Given the description of an element on the screen output the (x, y) to click on. 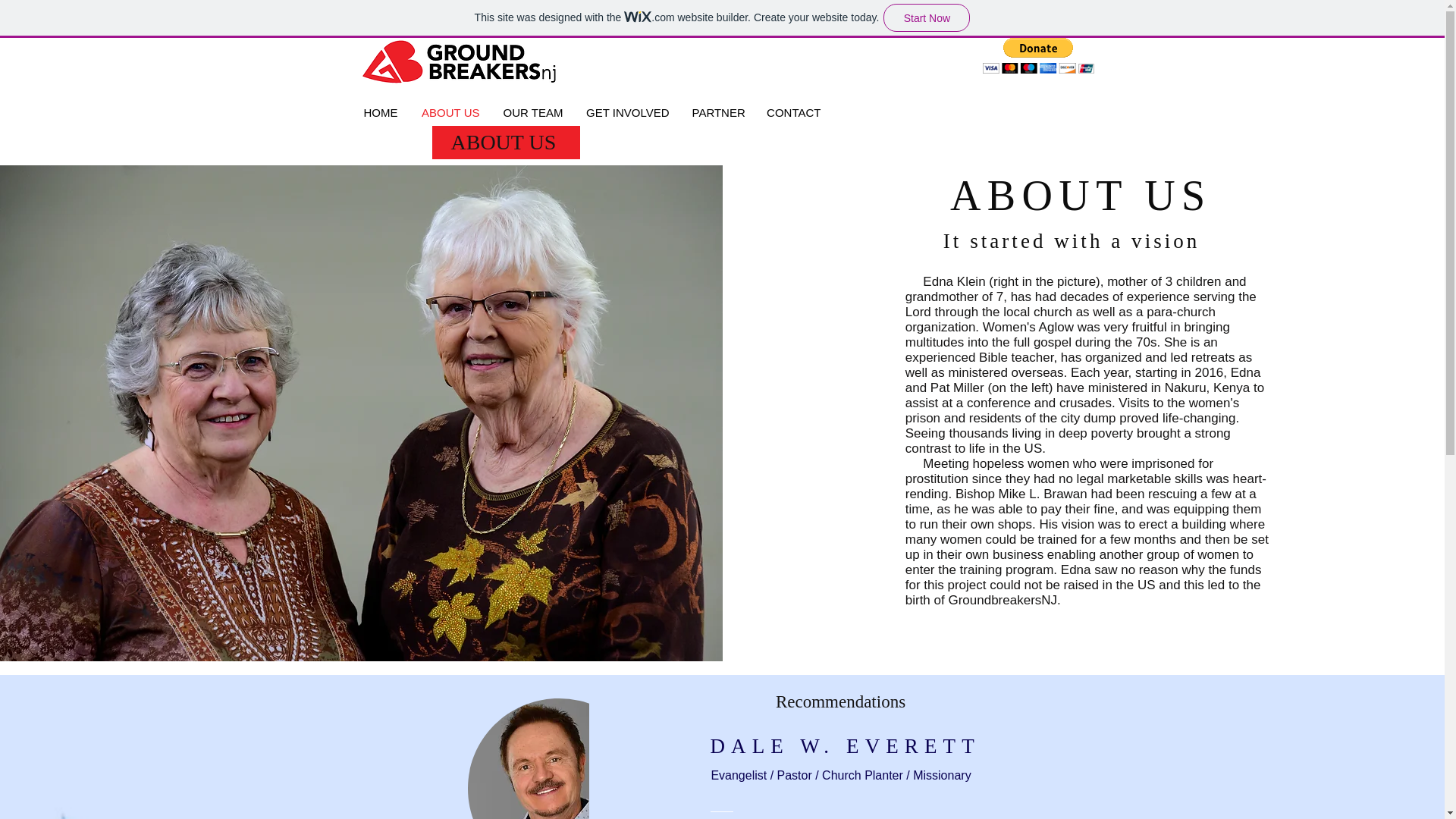
GBNJ Logo Options-02.png (458, 61)
GET INVOLVED (628, 111)
ABOUT US (450, 111)
PARTNER (717, 111)
HOME (379, 111)
OUR TEAM (533, 111)
CONTACT (792, 111)
Dale Everett (527, 758)
